Given the description of an element on the screen output the (x, y) to click on. 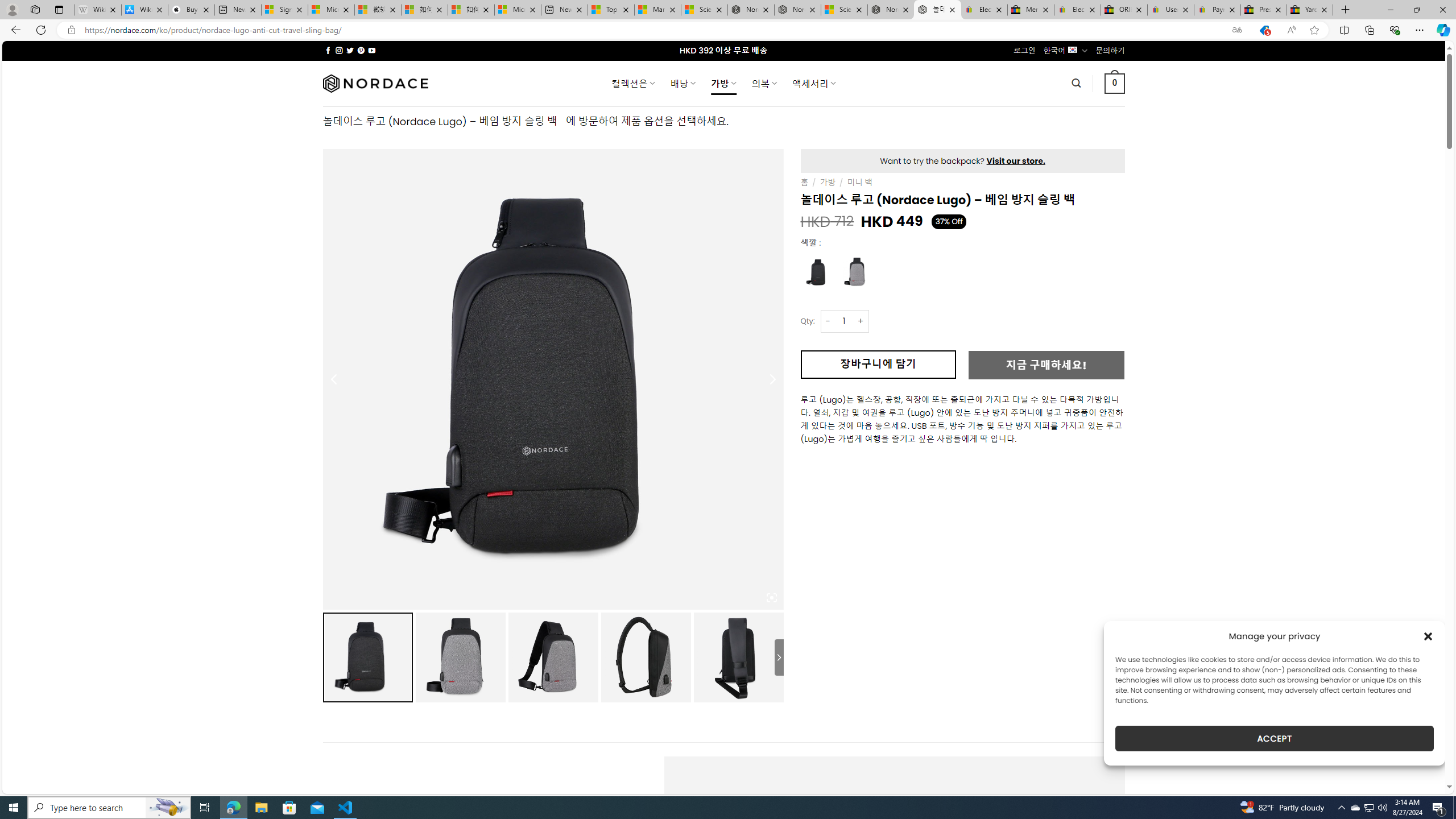
+ (861, 320)
Follow on Twitter (349, 50)
Follow on Pinterest (360, 50)
